Given the description of an element on the screen output the (x, y) to click on. 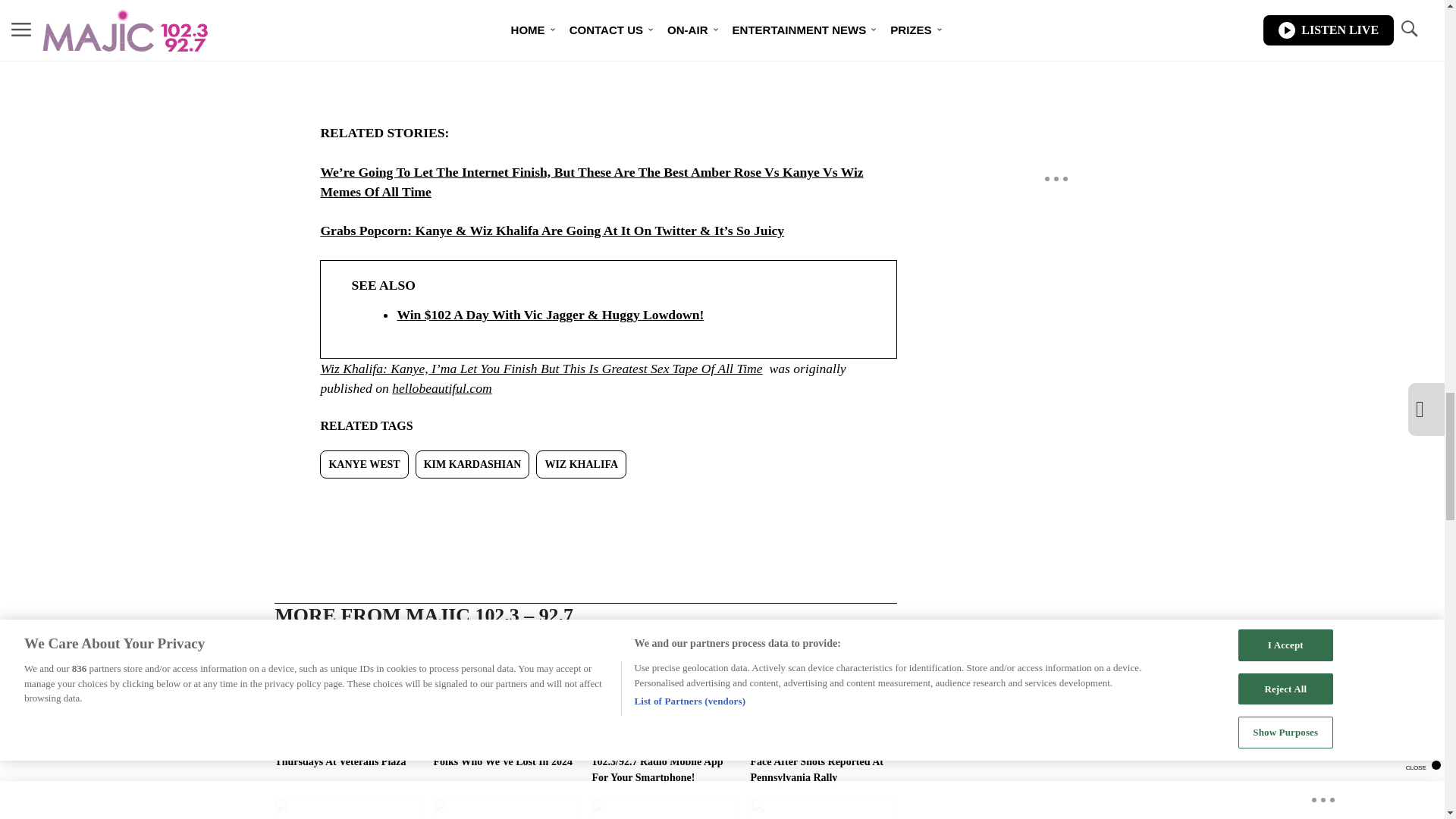
Vuukle Sharebar Widget (585, 503)
